Given the description of an element on the screen output the (x, y) to click on. 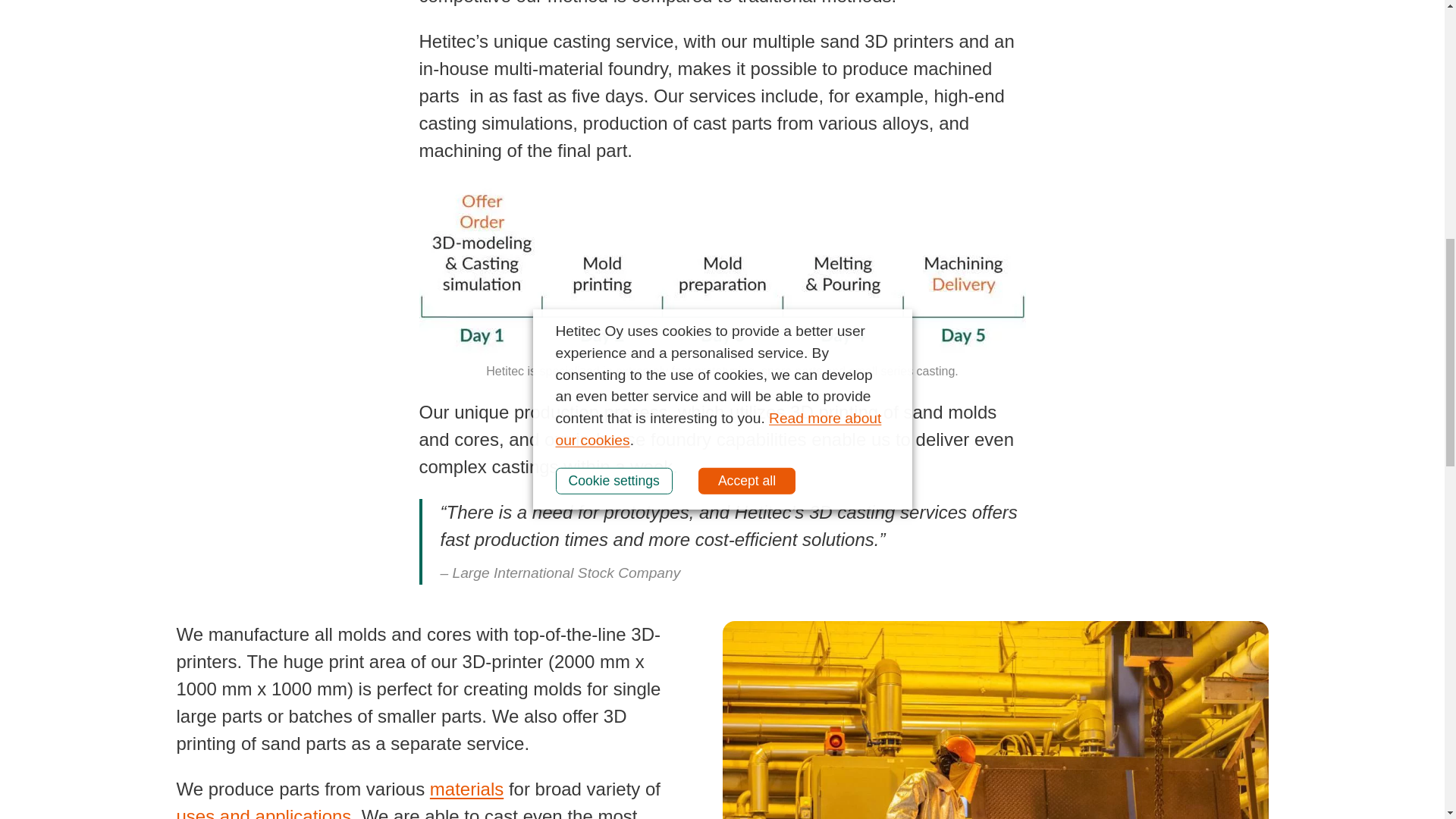
materials (466, 788)
uses and applications (263, 812)
